Given the description of an element on the screen output the (x, y) to click on. 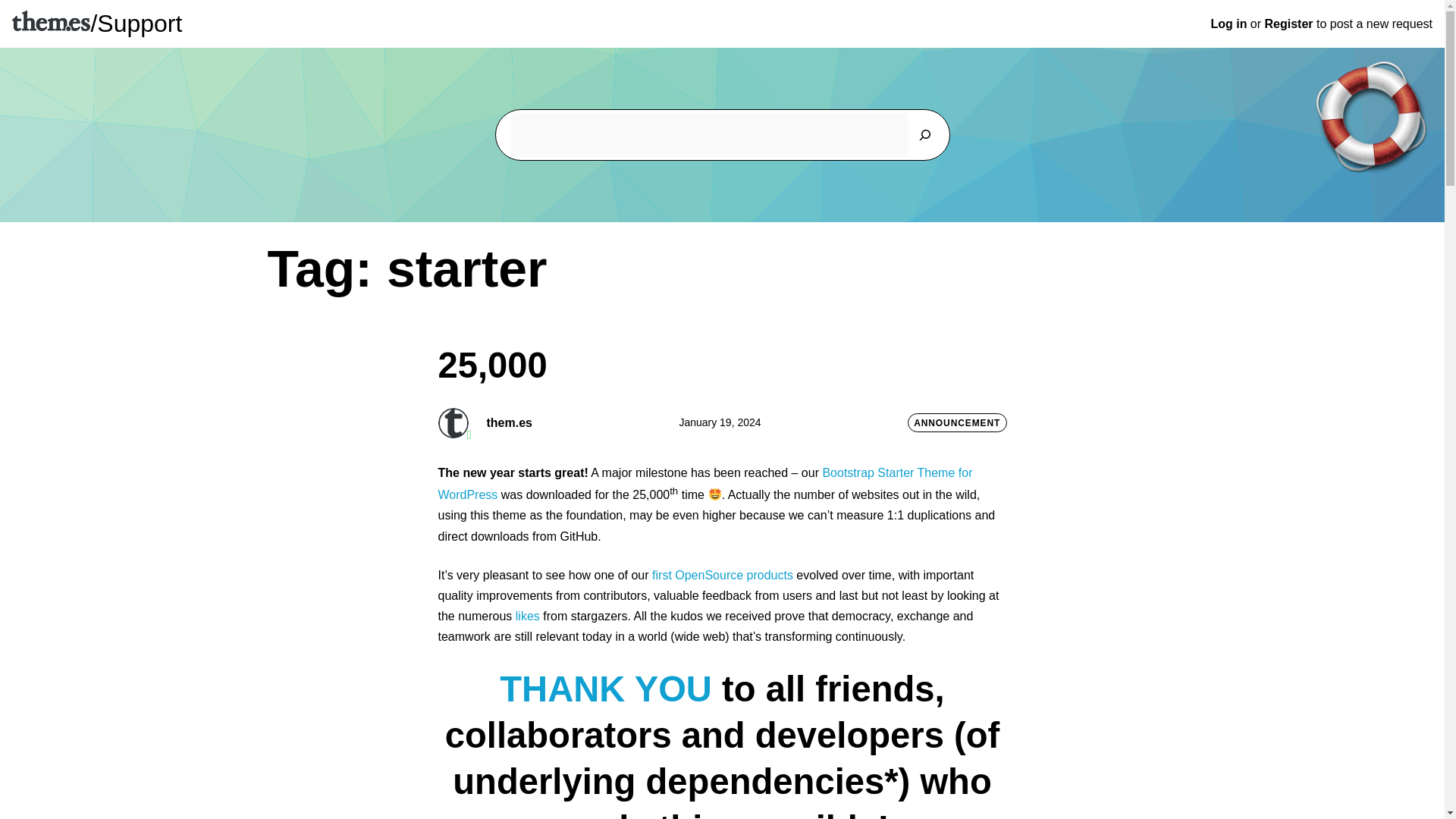
ANNOUNCEMENT (957, 422)
Register (1289, 23)
Support (139, 22)
Bootstrap Starter Theme for WordPress (705, 484)
Administrator (453, 422)
January 19, 2024 (719, 422)
likes (527, 615)
them.es (509, 422)
them.es (453, 421)
first OpenSource products (722, 574)
